Given the description of an element on the screen output the (x, y) to click on. 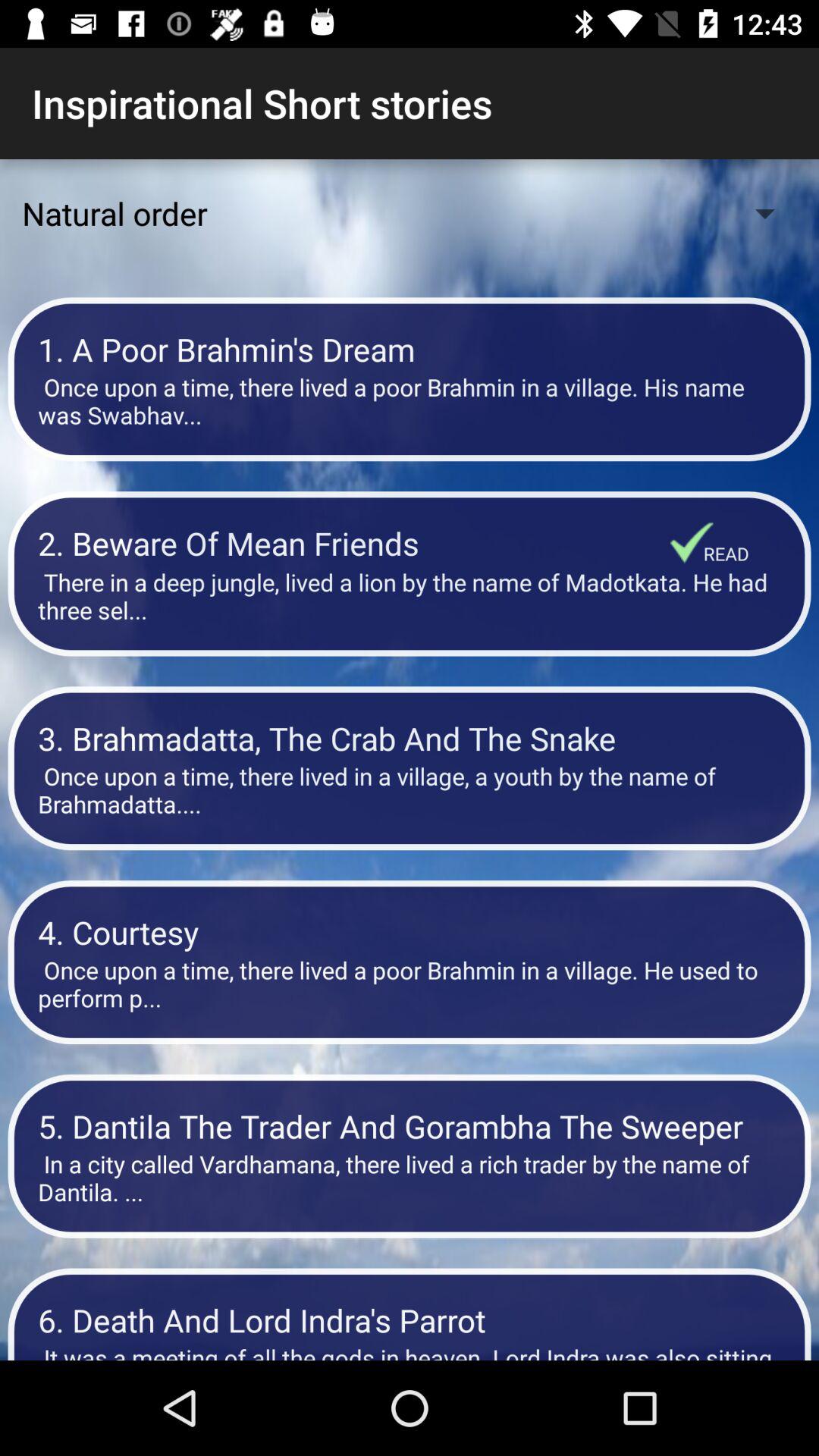
click item below once upon a item (354, 542)
